Given the description of an element on the screen output the (x, y) to click on. 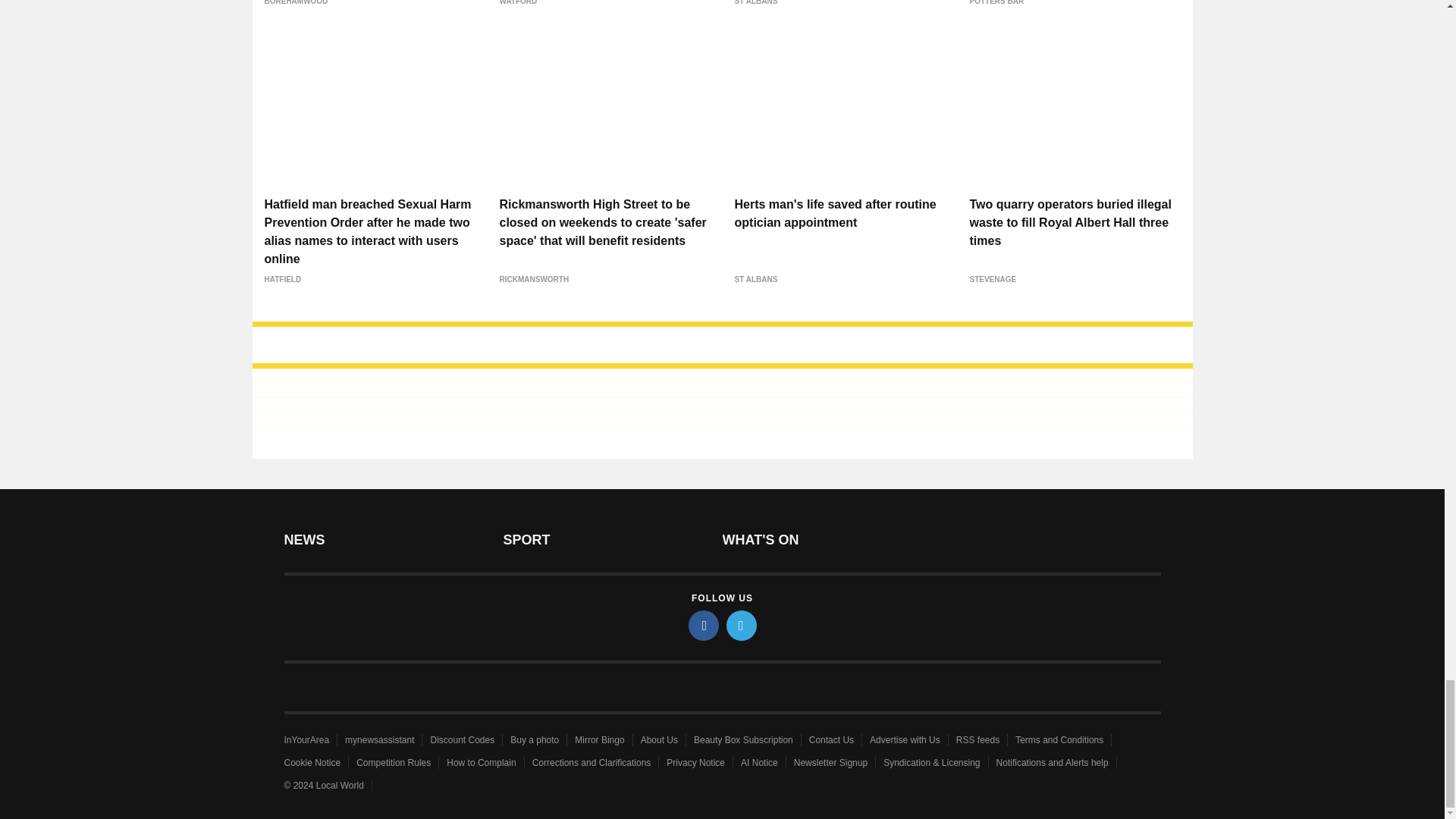
twitter (741, 625)
facebook (703, 625)
